Given the description of an element on the screen output the (x, y) to click on. 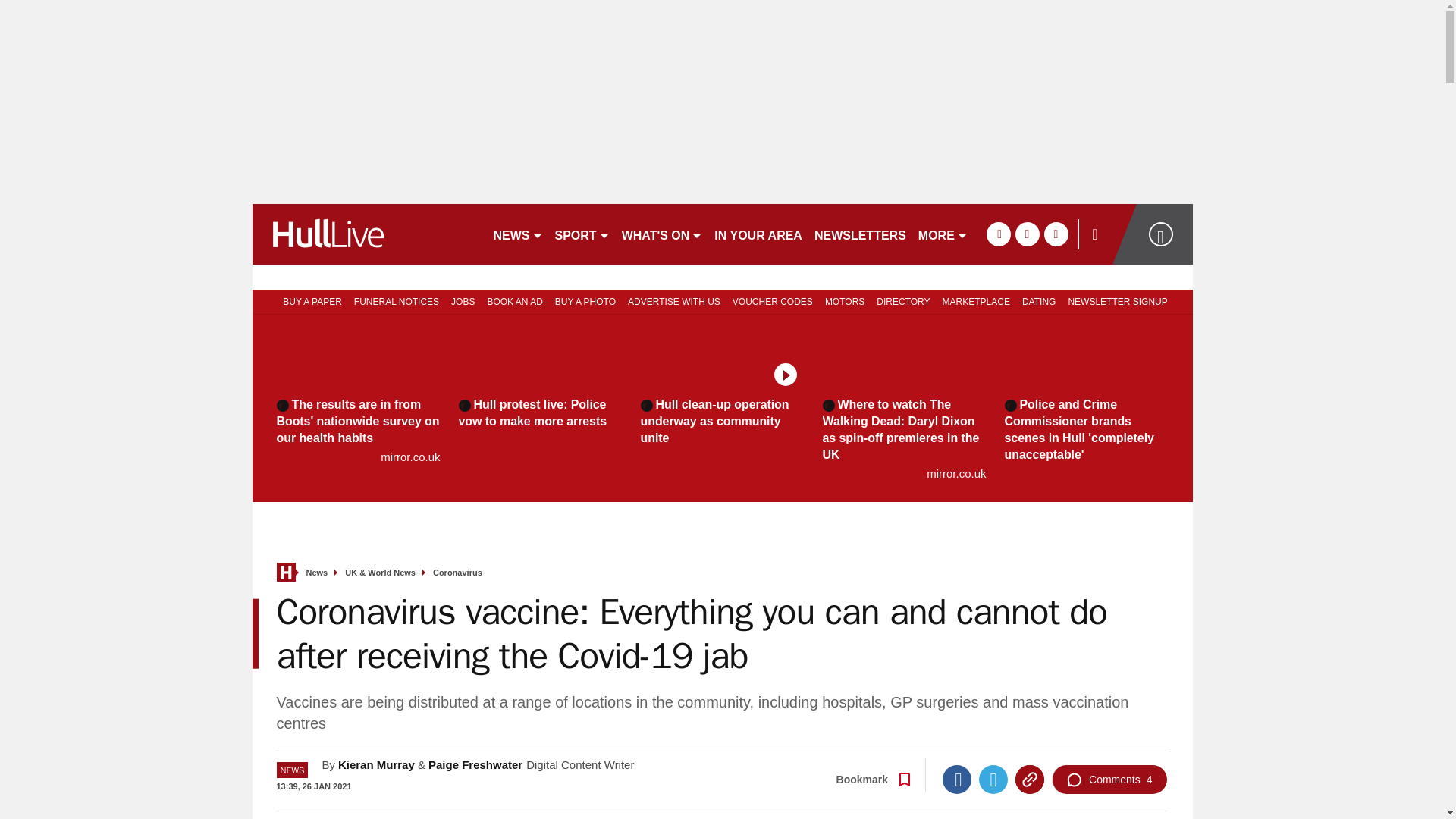
MORE (943, 233)
twitter (1026, 233)
NEWS (517, 233)
SPORT (581, 233)
Comments (1108, 778)
Twitter (992, 778)
WHAT'S ON (662, 233)
hulldailymail (365, 233)
facebook (997, 233)
instagram (1055, 233)
IN YOUR AREA (757, 233)
NEWSLETTERS (860, 233)
Facebook (956, 778)
